Given the description of an element on the screen output the (x, y) to click on. 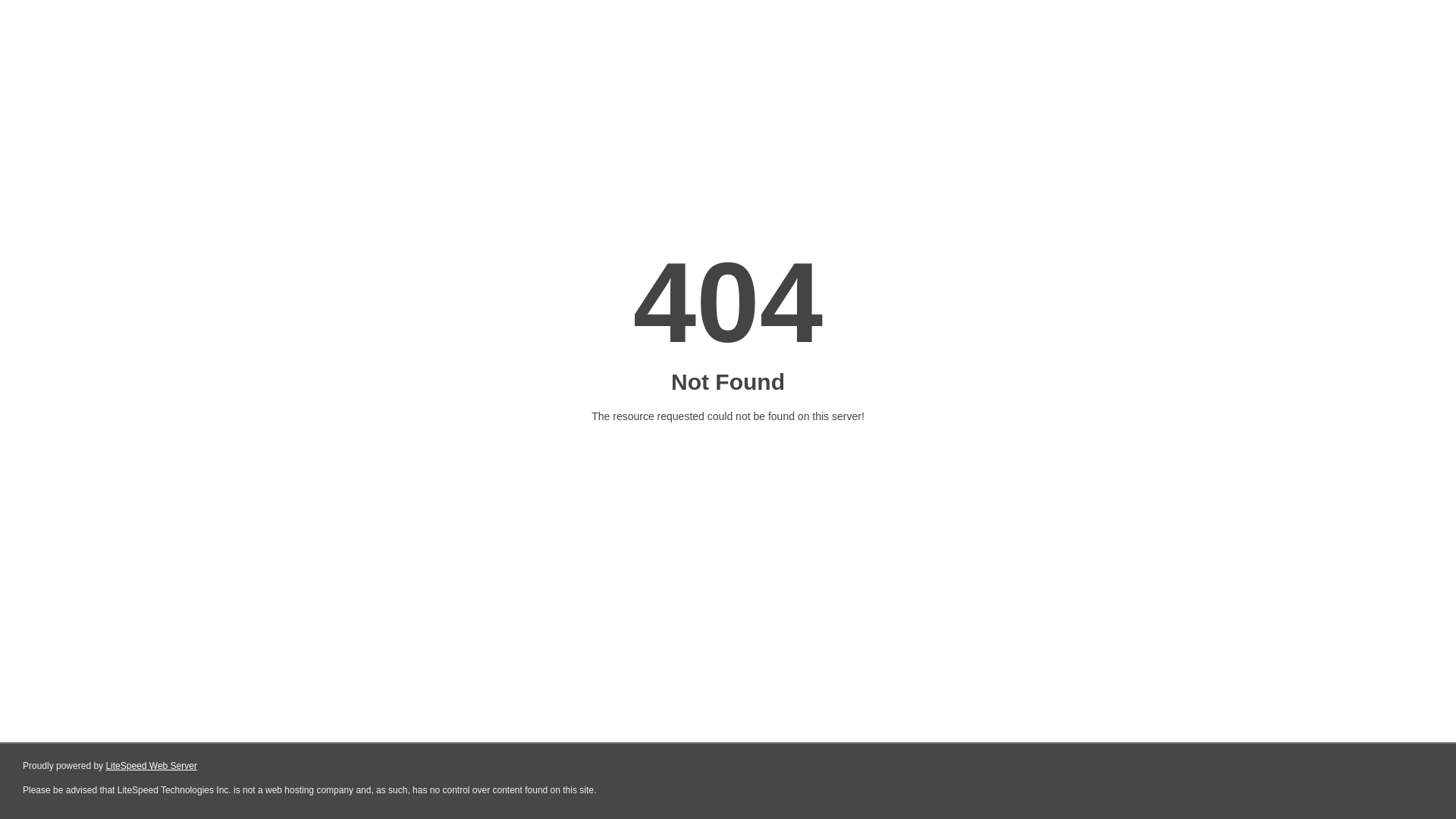
LiteSpeed Web Server Element type: text (151, 765)
